Given the description of an element on the screen output the (x, y) to click on. 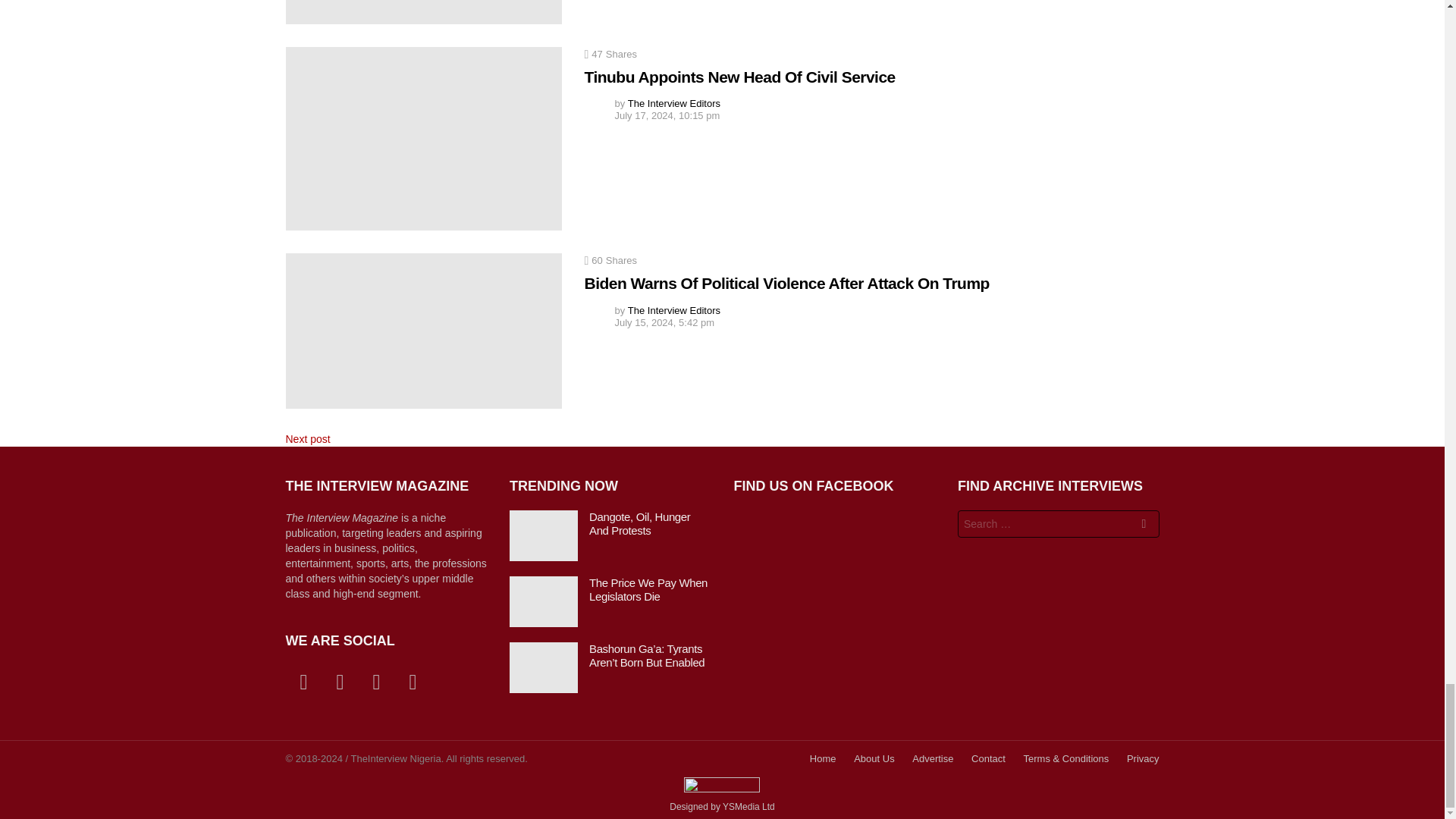
Tinubu Appoints New Head Of Civil Service (422, 137)
Rivers Crisis: PDP Governors Pledge Support For Fubara (422, 12)
